Given the description of an element on the screen output the (x, y) to click on. 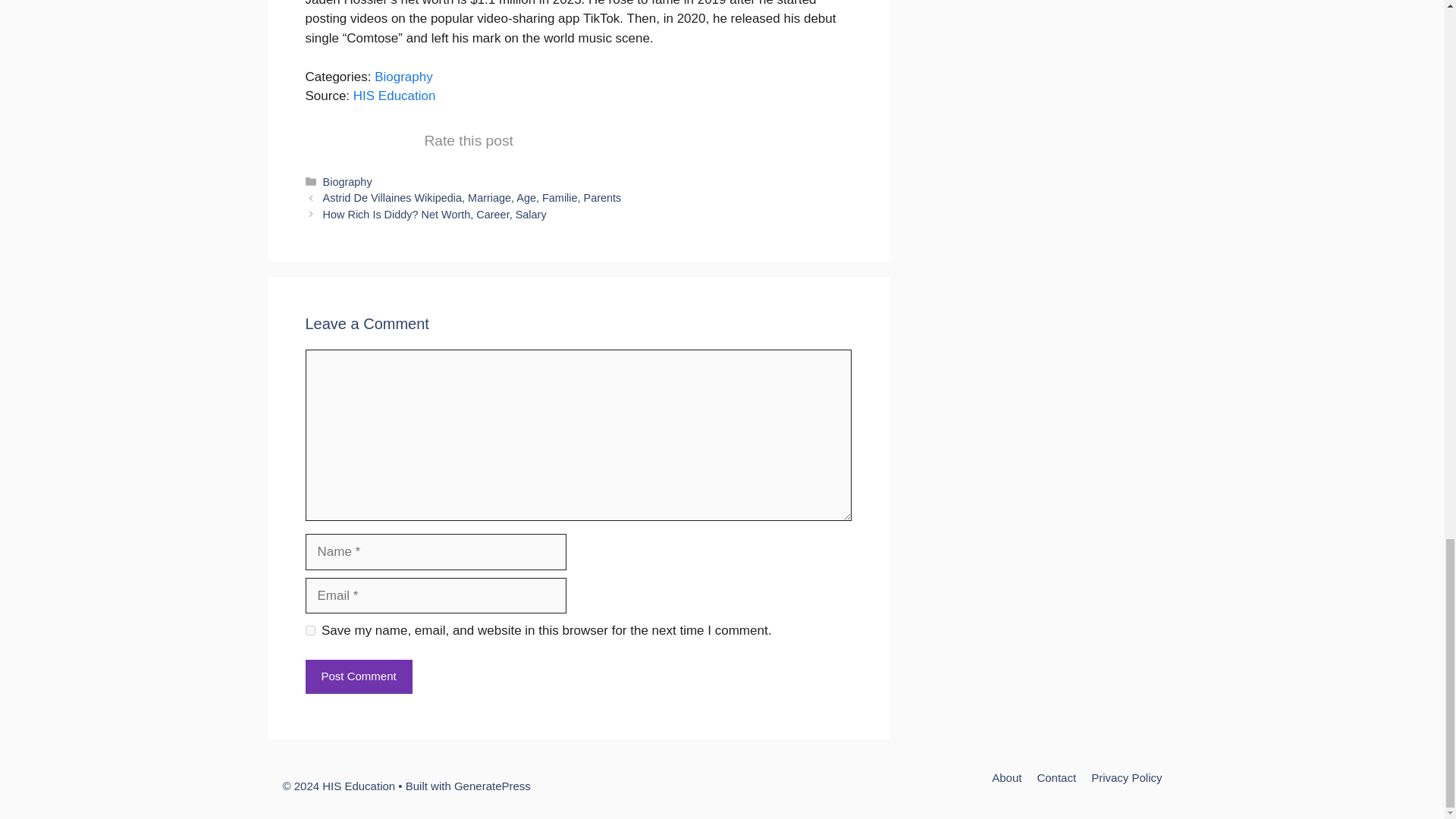
HIS Education (394, 95)
Post Comment (358, 676)
Biography (403, 76)
About (1006, 777)
Biography (347, 182)
Privacy Policy (1125, 777)
Post Comment (358, 676)
How Rich Is Diddy? Net Worth, Career, Salary (435, 214)
yes (309, 630)
GeneratePress (492, 785)
Contact (1055, 777)
